Given the description of an element on the screen output the (x, y) to click on. 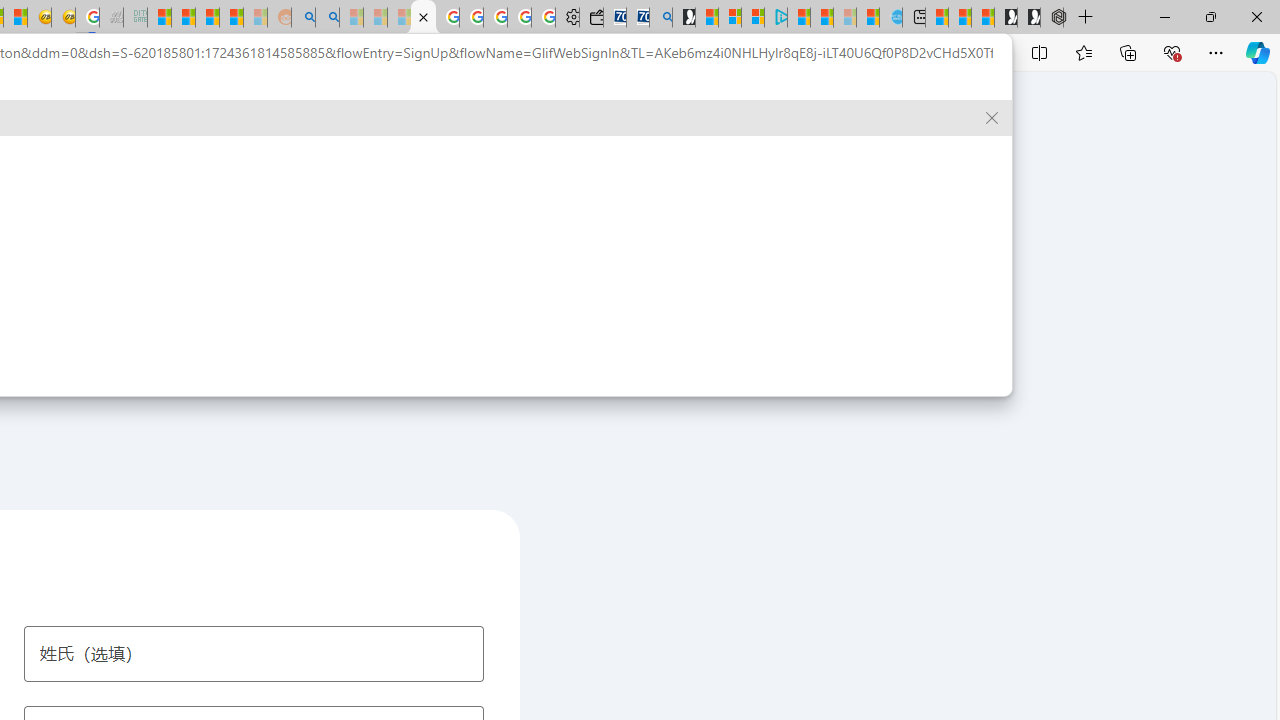
Nordace - Nordace Siena Is Not An Ordinary Backpack (1051, 17)
Play Free Online Games | Games from Microsoft Start (1028, 17)
